Given the description of an element on the screen output the (x, y) to click on. 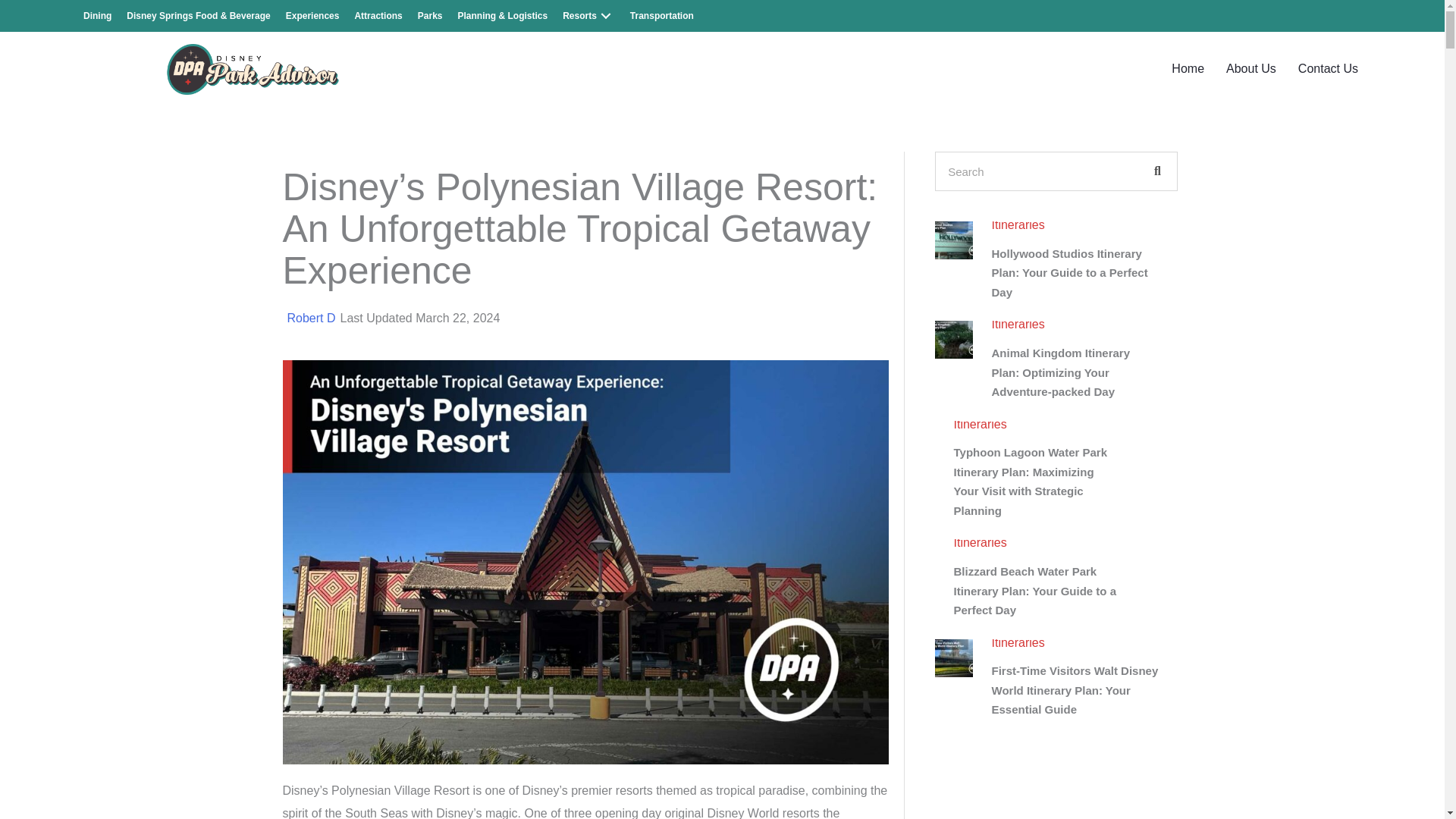
Attractions (377, 15)
Experiences (312, 15)
Itineraries (980, 542)
Resorts (588, 15)
Search (1037, 171)
